Given the description of an element on the screen output the (x, y) to click on. 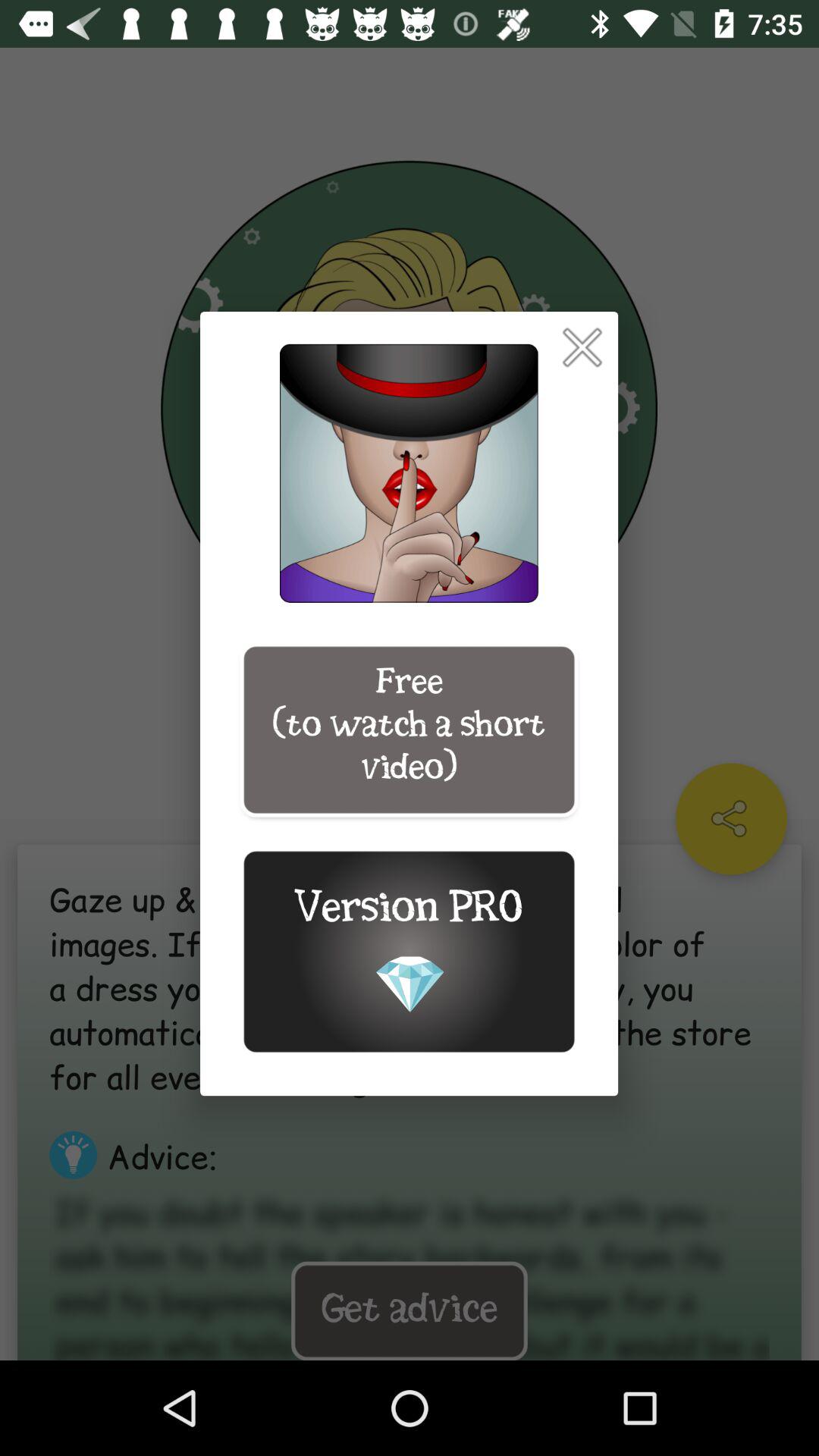
click version pro (409, 951)
